Given the description of an element on the screen output the (x, y) to click on. 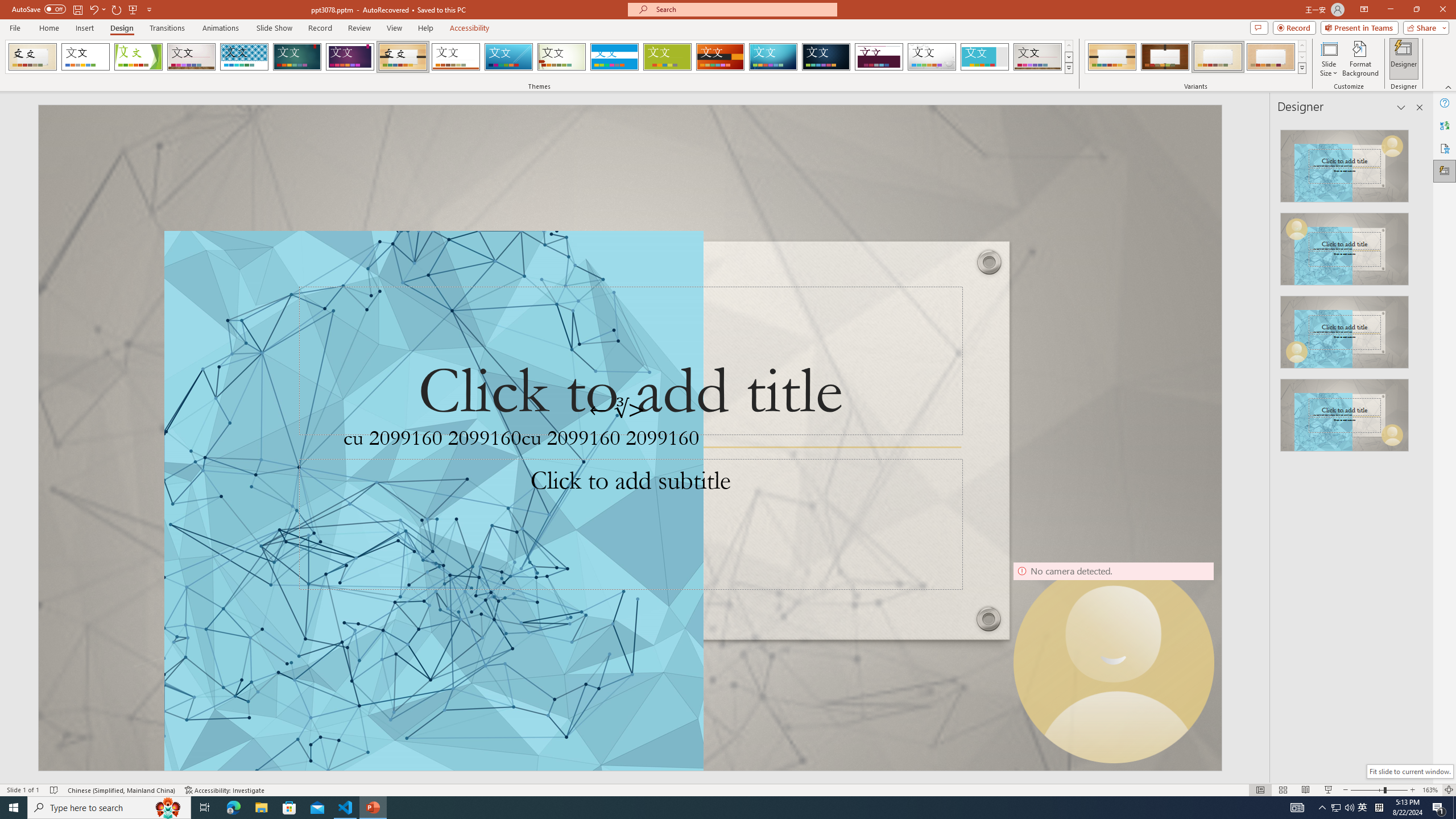
Dividend (879, 56)
Task Pane Options (1400, 107)
Animations (220, 28)
Fit slide to current window. (1410, 771)
Accessibility Checker Accessibility: Investigate (224, 790)
Gallery (1037, 56)
Row Down (1301, 56)
Customize Quick Access Toolbar (149, 9)
Title TextBox (630, 360)
Zoom 163% (1430, 790)
Microsoft search (742, 9)
Variants (1301, 67)
